Given the description of an element on the screen output the (x, y) to click on. 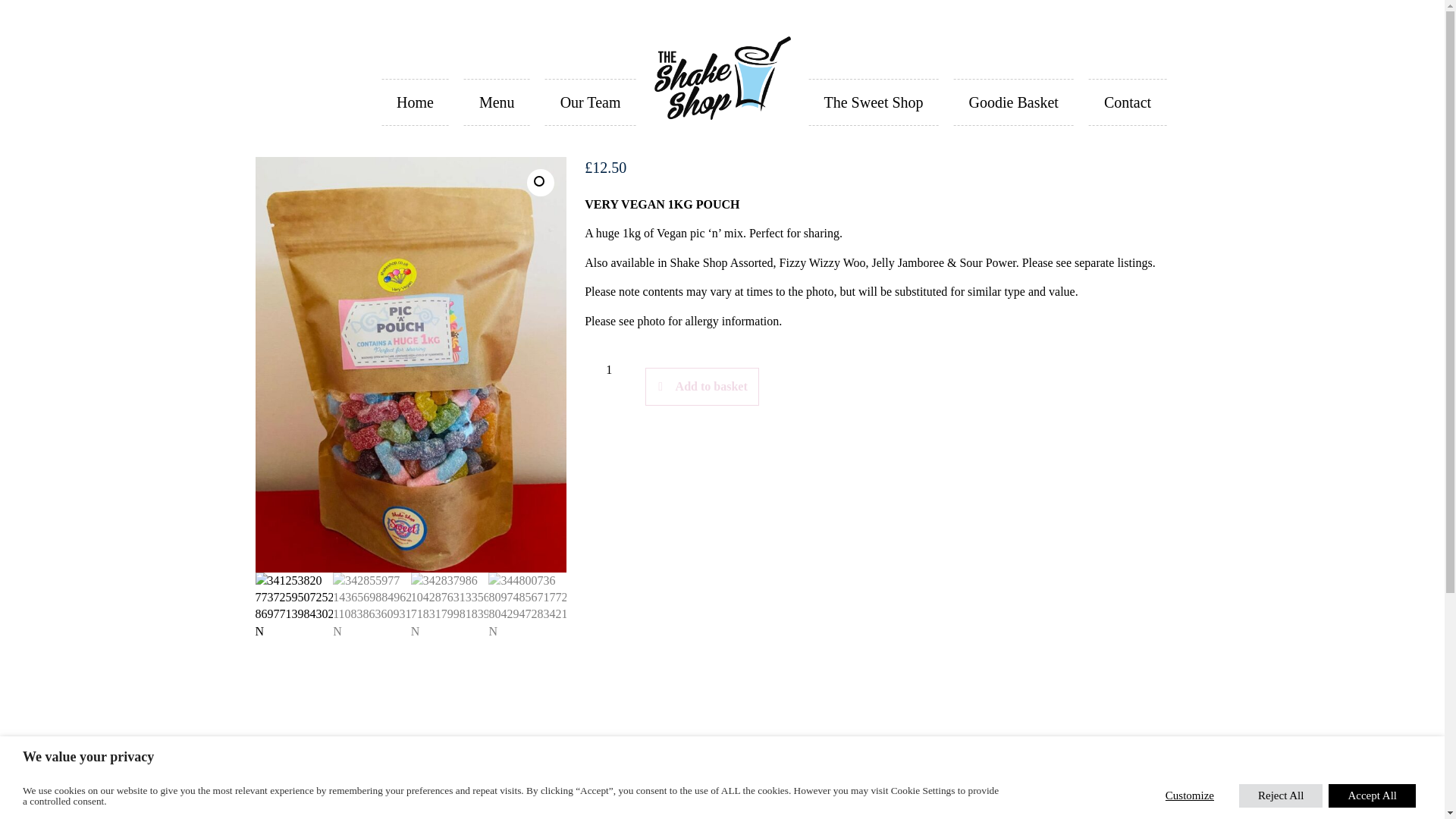
Customize (1190, 794)
Add to basket (701, 386)
The Sweet Shop (872, 102)
Contact (1127, 102)
Accept All (1371, 795)
Goodie Basket (1013, 102)
Menu (496, 102)
Home (414, 102)
1 (609, 369)
Our Team (590, 102)
